Given the description of an element on the screen output the (x, y) to click on. 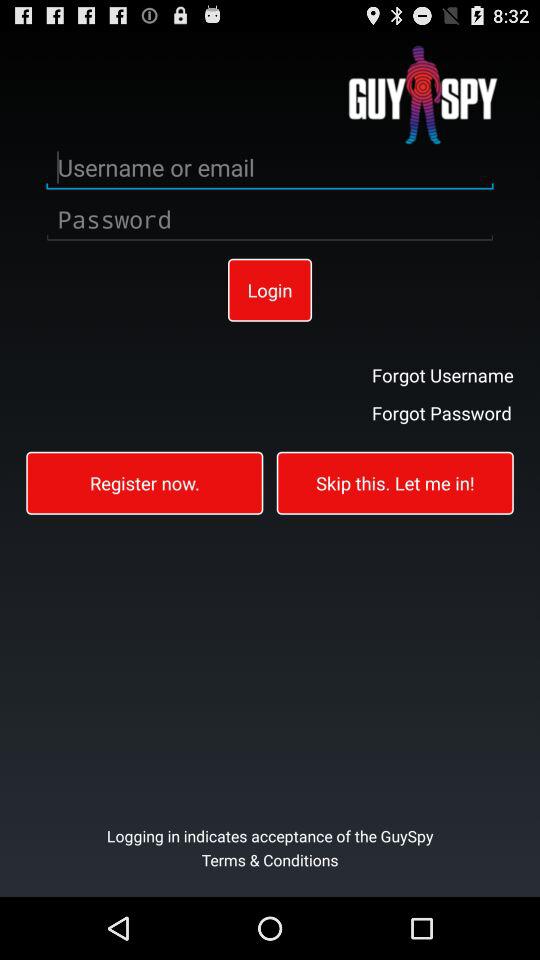
enter email (270, 168)
